Given the description of an element on the screen output the (x, y) to click on. 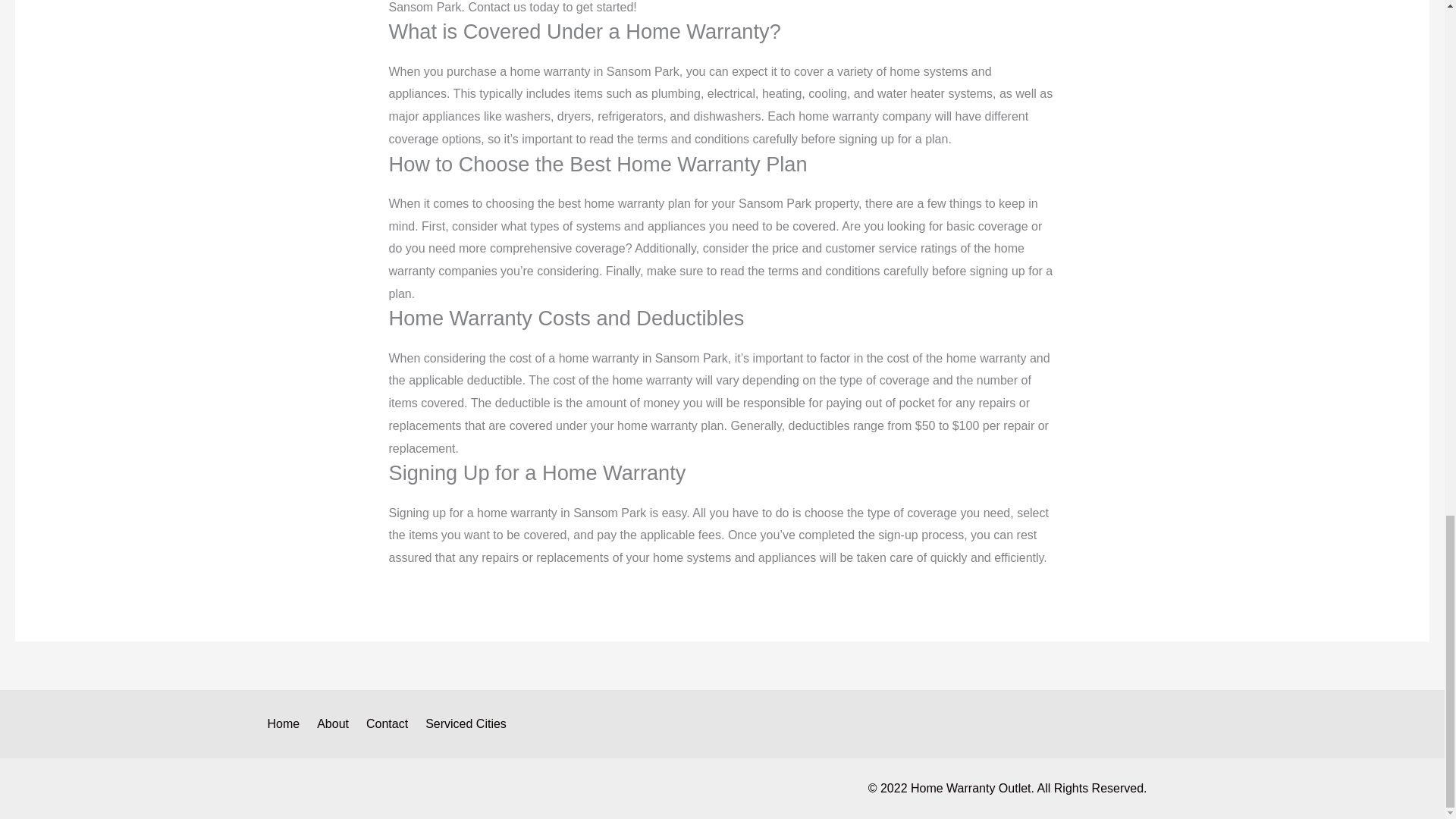
Home (288, 723)
About (335, 723)
Serviced Cities (468, 723)
Contact (389, 723)
